Given the description of an element on the screen output the (x, y) to click on. 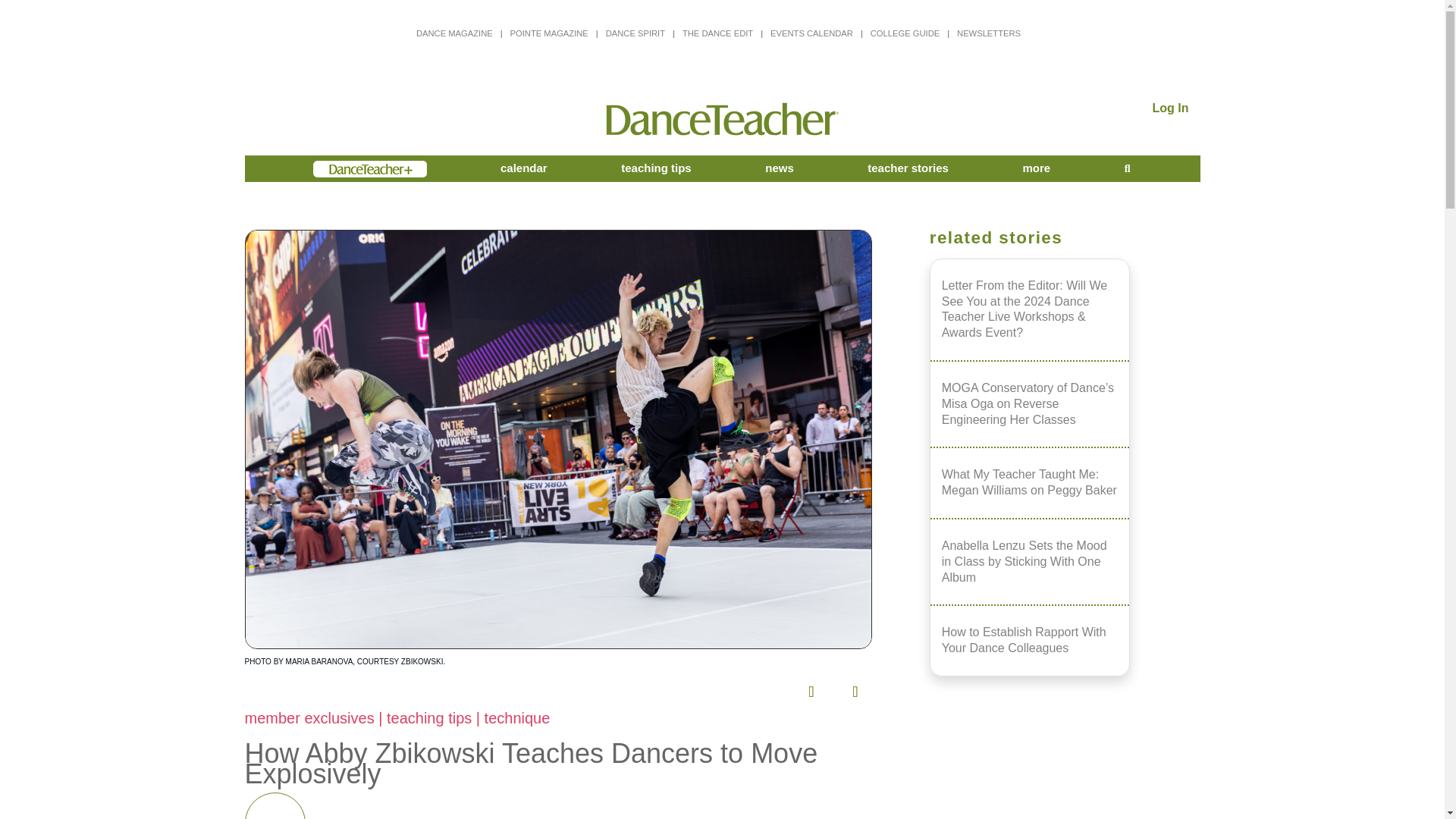
teaching tips (656, 168)
Follow on  (809, 687)
teacher stories (908, 168)
THE DANCE EDIT (717, 32)
What My Teacher Taught Me: Megan Williams on Peggy Baker (1029, 481)
COLLEGE GUIDE (904, 32)
How to Establish Rapport With Your Dance Colleagues (1029, 639)
POINTE MAGAZINE (549, 32)
DANCE SPIRIT (635, 32)
Log In (1171, 107)
Follow on Facebook (633, 687)
Members (369, 168)
news (779, 168)
NEWSLETTERS (988, 32)
